Given the description of an element on the screen output the (x, y) to click on. 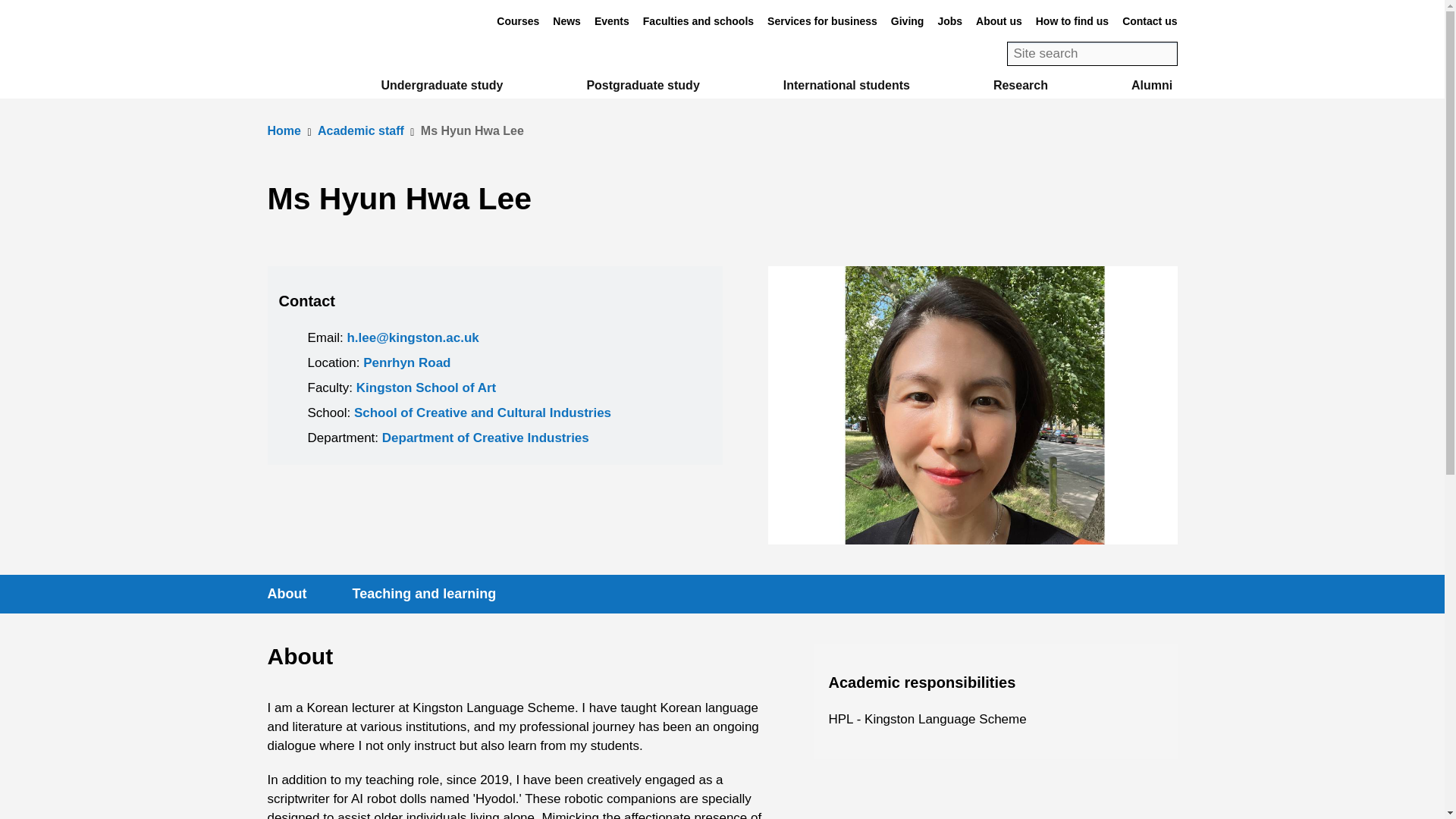
Alumni (1151, 84)
About (286, 593)
Search (1166, 53)
Courses (517, 21)
Teaching and learning (423, 593)
Penrhyn Road (405, 362)
Undergraduate study at Kingston University (441, 84)
Teaching and learning (423, 593)
Contact us (1149, 21)
About us (998, 21)
